Given the description of an element on the screen output the (x, y) to click on. 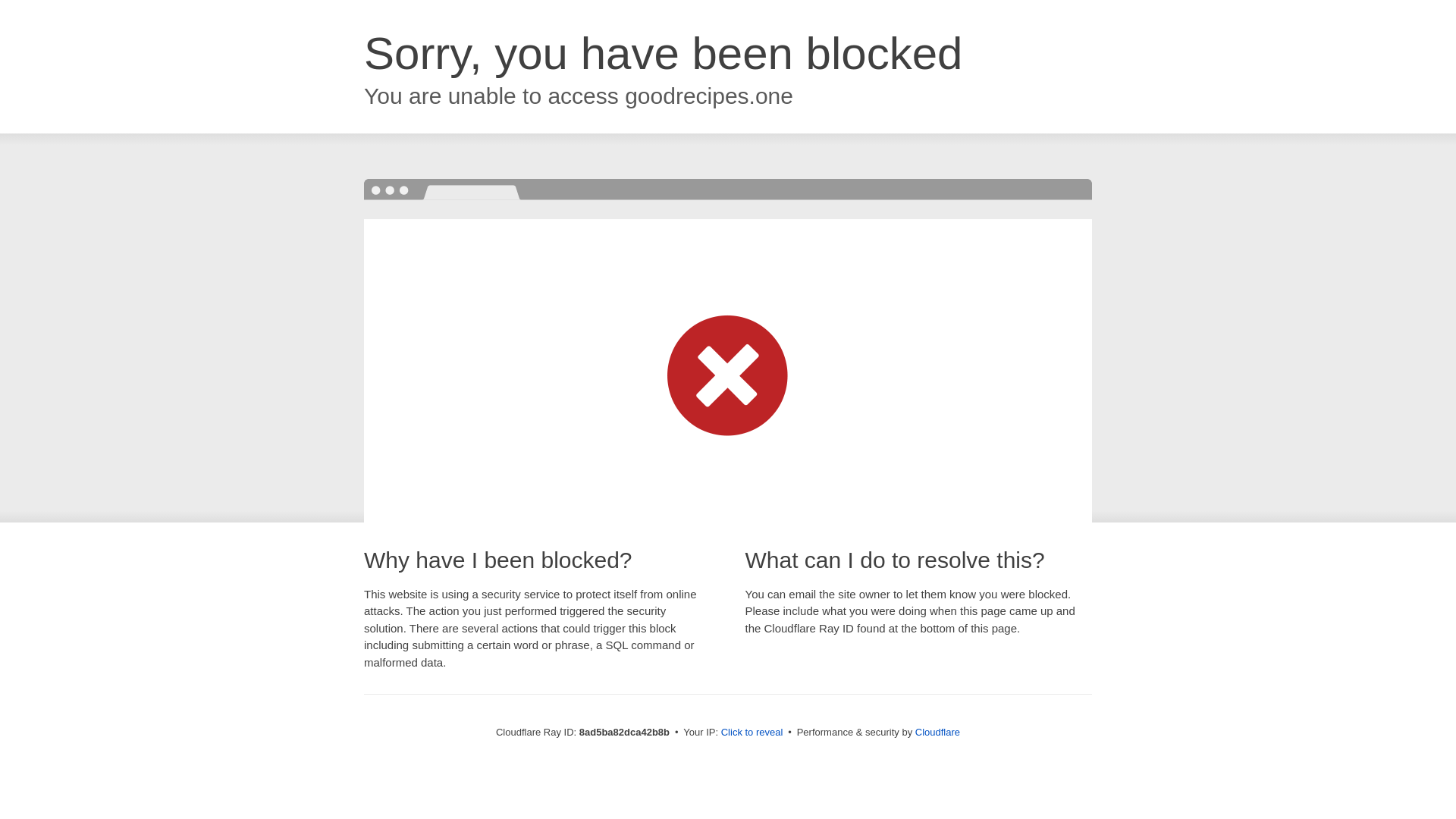
Click to reveal (751, 732)
Cloudflare (937, 731)
